Given the description of an element on the screen output the (x, y) to click on. 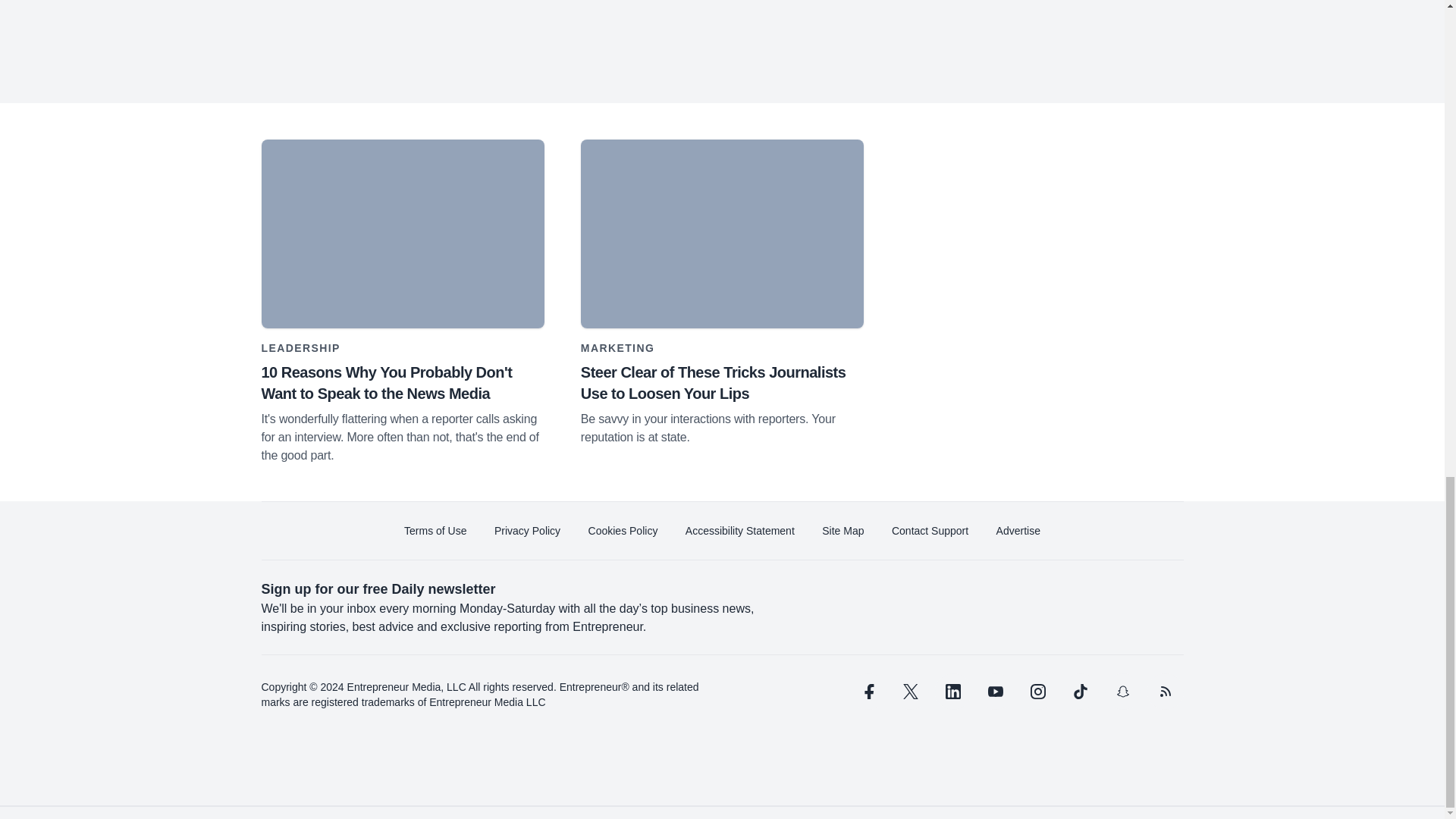
tiktok (1079, 691)
linkedin (952, 691)
facebook (866, 691)
youtube (994, 691)
twitter (909, 691)
instagram (1037, 691)
snapchat (1121, 691)
rss (1164, 691)
